Given the description of an element on the screen output the (x, y) to click on. 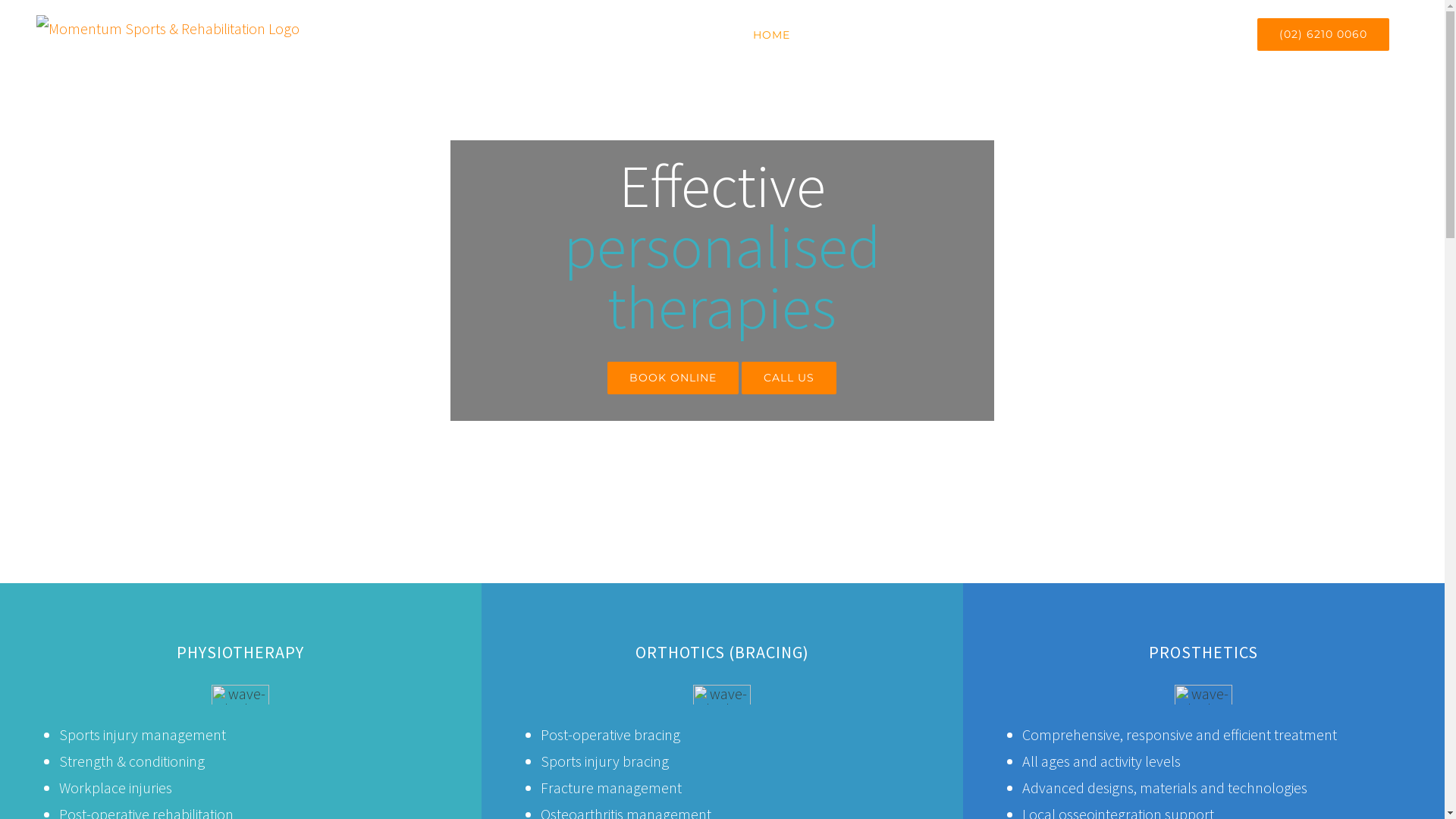
MAKE APPOINTMENT Element type: text (1174, 34)
BOOK ONLINE Element type: text (672, 374)
SERVICES Element type: text (838, 34)
wave-divider Element type: hover (240, 694)
CALL US Element type: text (788, 374)
HOME Element type: text (771, 34)
wave-divider Element type: hover (721, 694)
wave-divider Element type: hover (1203, 694)
BLOG Element type: text (1074, 34)
ABOUT US Element type: text (1006, 34)
PRODUCTS Element type: text (921, 34)
(02) 6210 0060 Element type: text (1323, 34)
